Given the description of an element on the screen output the (x, y) to click on. 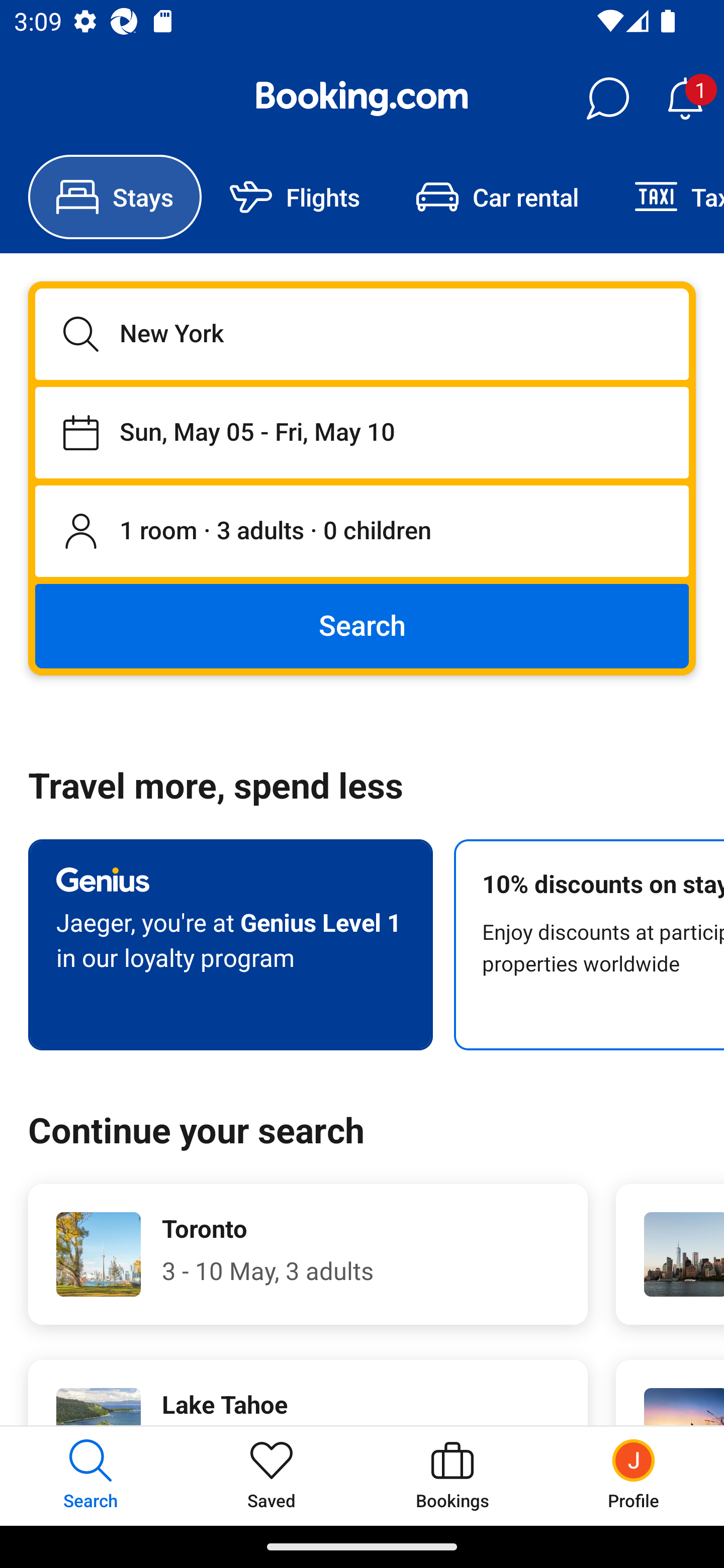
Messages (607, 98)
Notifications (685, 98)
Stays (114, 197)
Flights (294, 197)
Car rental (497, 197)
Taxi (665, 197)
New York (361, 333)
Staying from Sun, May 05 until Fri, May 10 (361, 432)
1 room, 3 adults, 0 children (361, 531)
Search (361, 625)
Toronto 3 - 10 May, 3 adults (307, 1253)
Saved (271, 1475)
Bookings (452, 1475)
Profile (633, 1475)
